Given the description of an element on the screen output the (x, y) to click on. 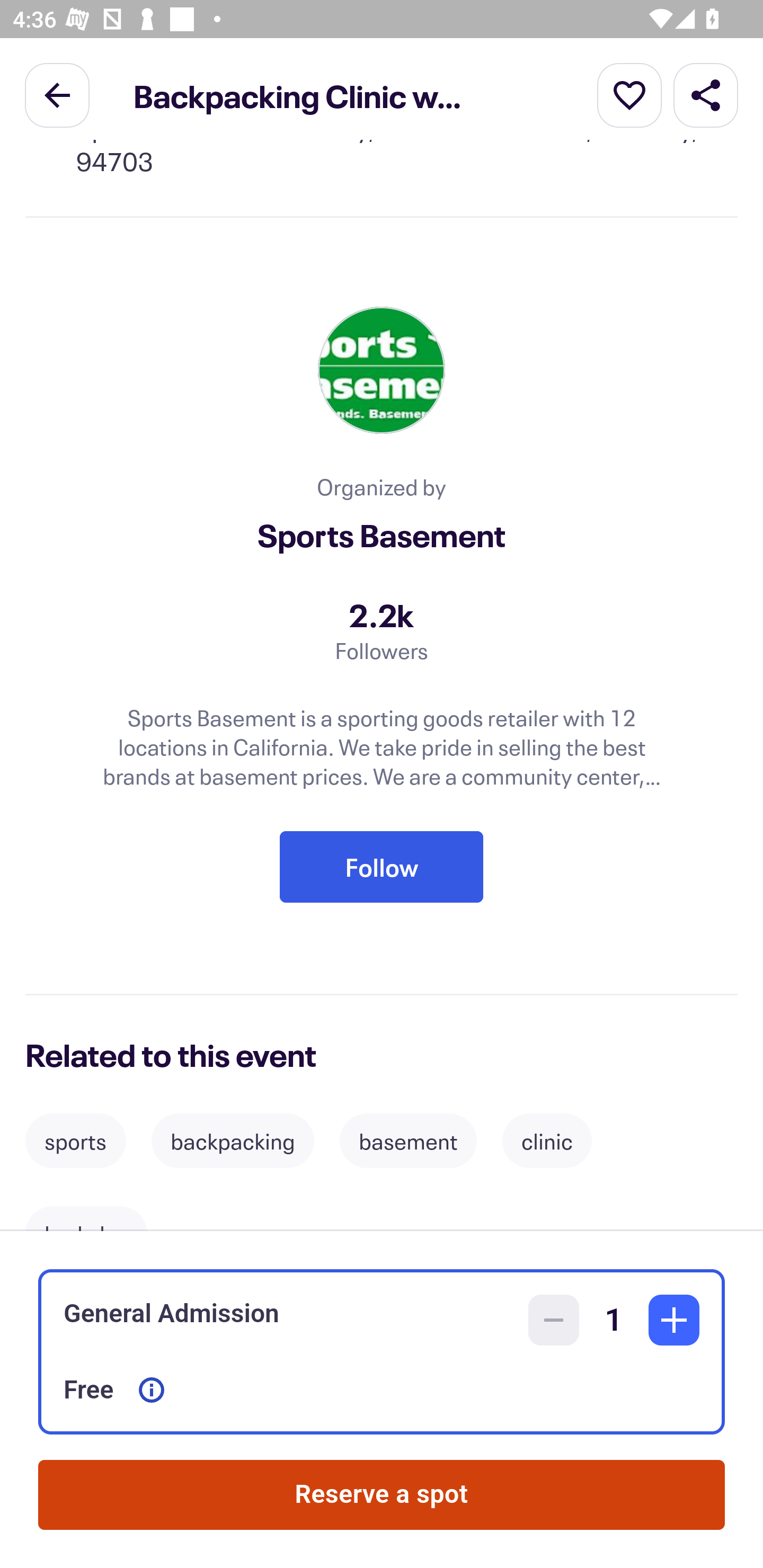
Back (57, 94)
More (629, 94)
Share (705, 94)
Organizer profile picture (381, 370)
Sports Basement (381, 535)
Follow (381, 866)
sports (75, 1140)
backpacking (232, 1140)
basement (407, 1140)
clinic (547, 1140)
Decrease (553, 1320)
Increase (673, 1320)
Show more information (151, 1389)
Reserve a spot (381, 1494)
